Given the description of an element on the screen output the (x, y) to click on. 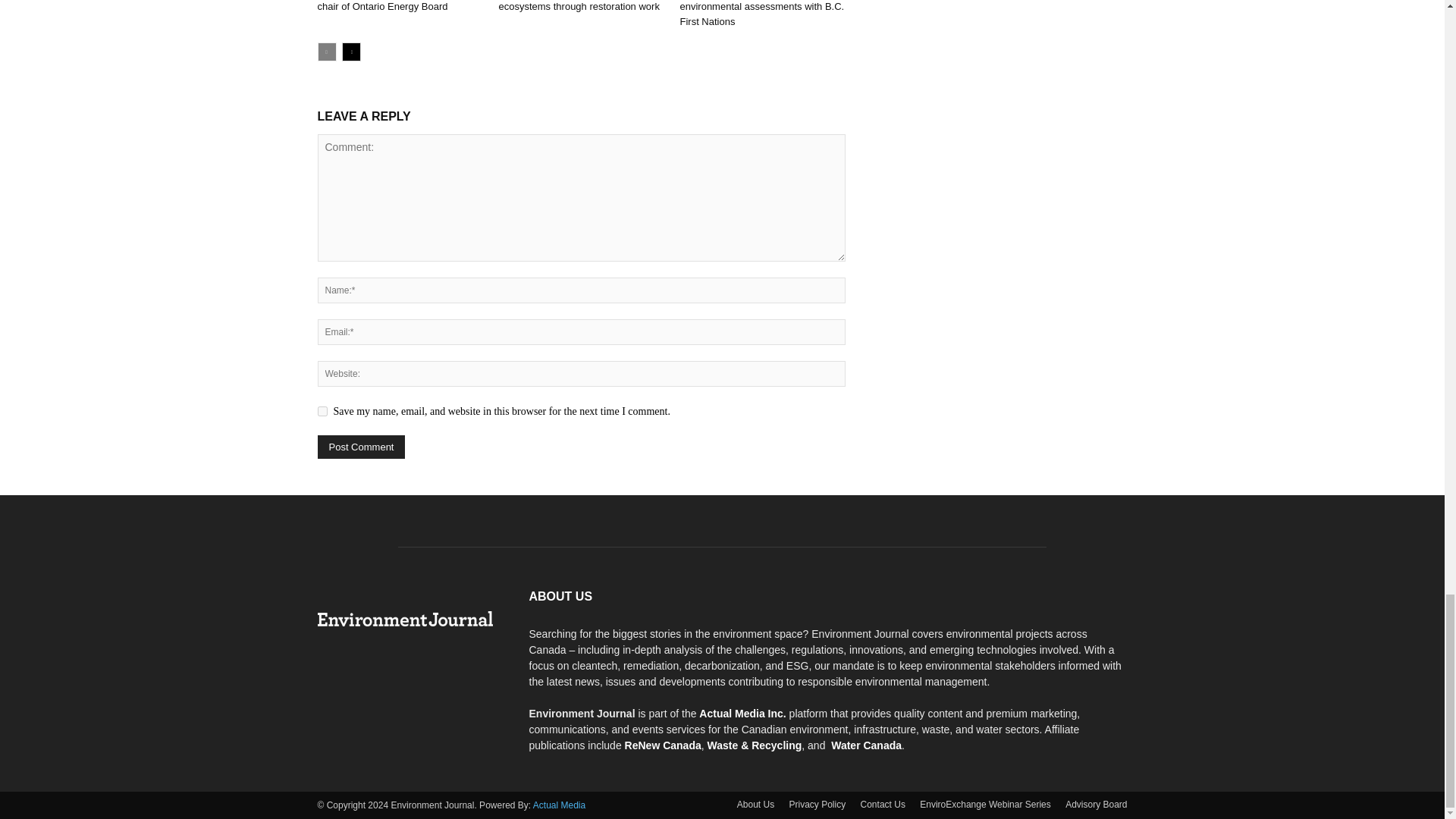
Post Comment (360, 446)
yes (321, 411)
